Given the description of an element on the screen output the (x, y) to click on. 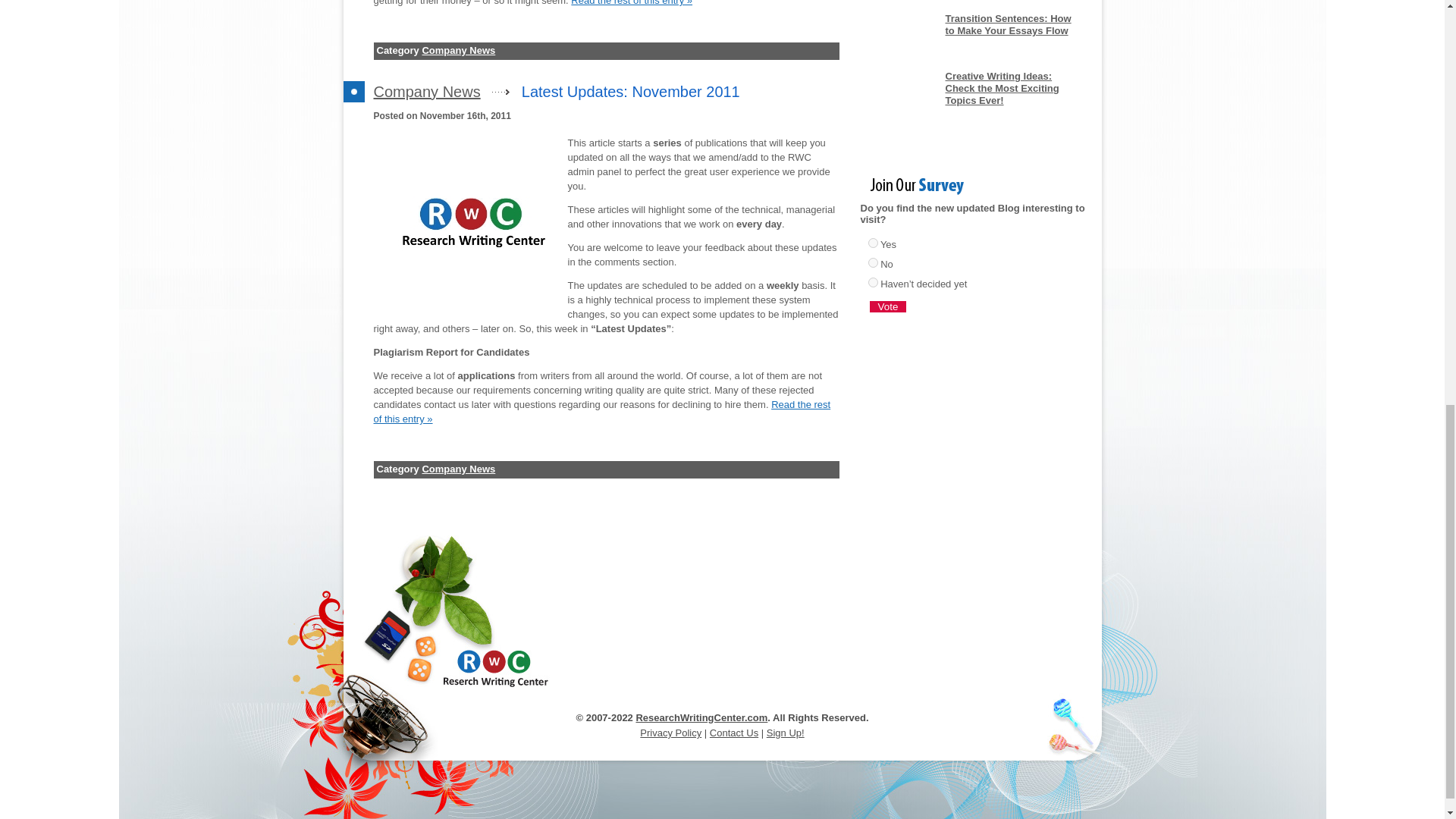
Latest Updates: November 2011 (630, 91)
View all posts in Company News (458, 469)
View all posts in Company News (458, 50)
Company News (426, 91)
   Vote    (887, 306)
Company News (458, 50)
RWC logo  (469, 223)
6 (872, 243)
View all posts in Company News (426, 91)
Company News (458, 469)
